Given the description of an element on the screen output the (x, y) to click on. 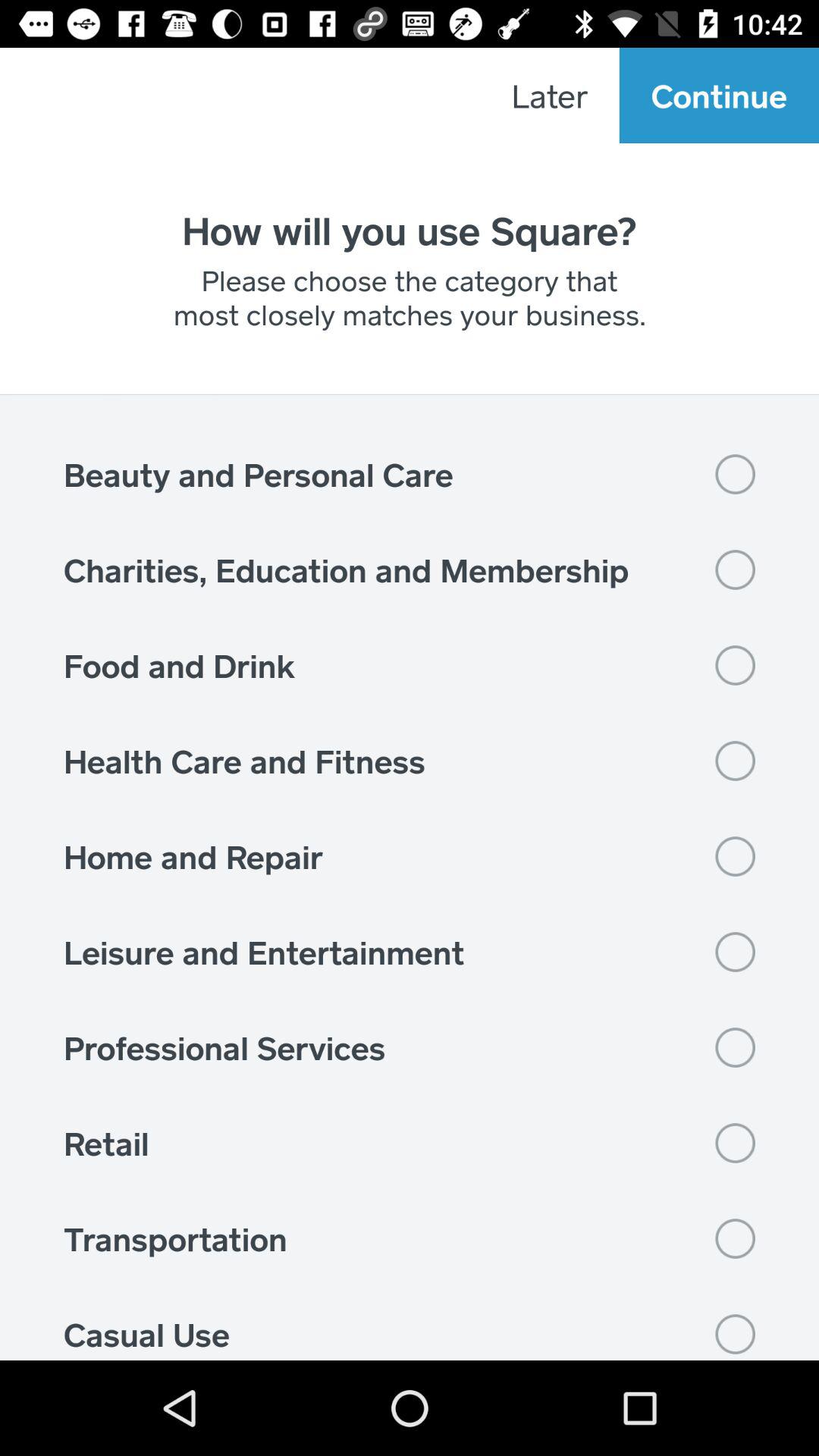
turn off icon above charities education and item (409, 474)
